Given the description of an element on the screen output the (x, y) to click on. 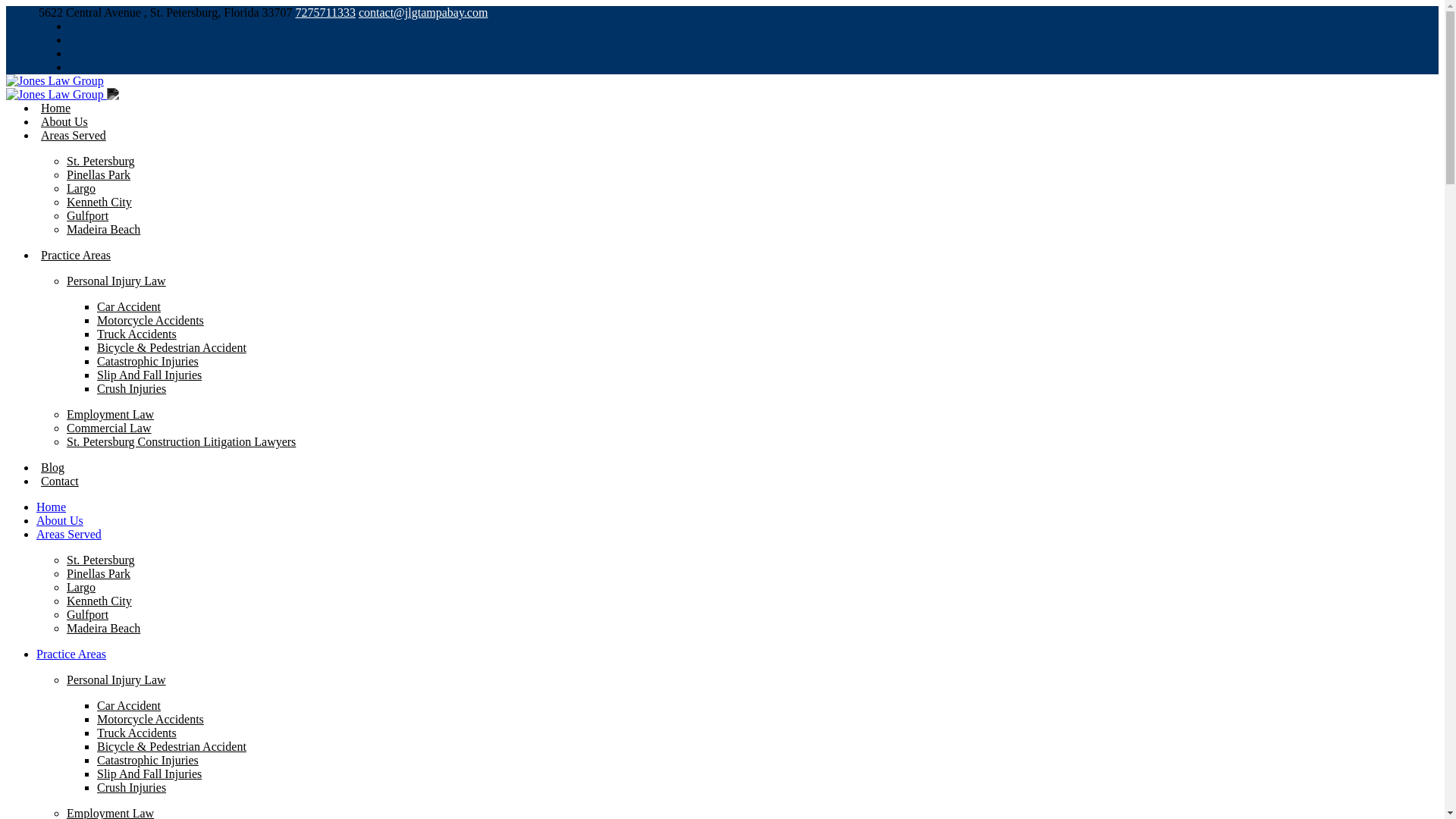
Commercial Law (108, 427)
Catastrophic Injuries (147, 360)
St. Petersburg (99, 559)
Areas Served (68, 533)
Practice Areas (75, 254)
Truck Accidents (136, 333)
Areas Served (73, 134)
Personal Injury Law (115, 280)
Employment Law (110, 413)
Jones Law Group (54, 80)
